Given the description of an element on the screen output the (x, y) to click on. 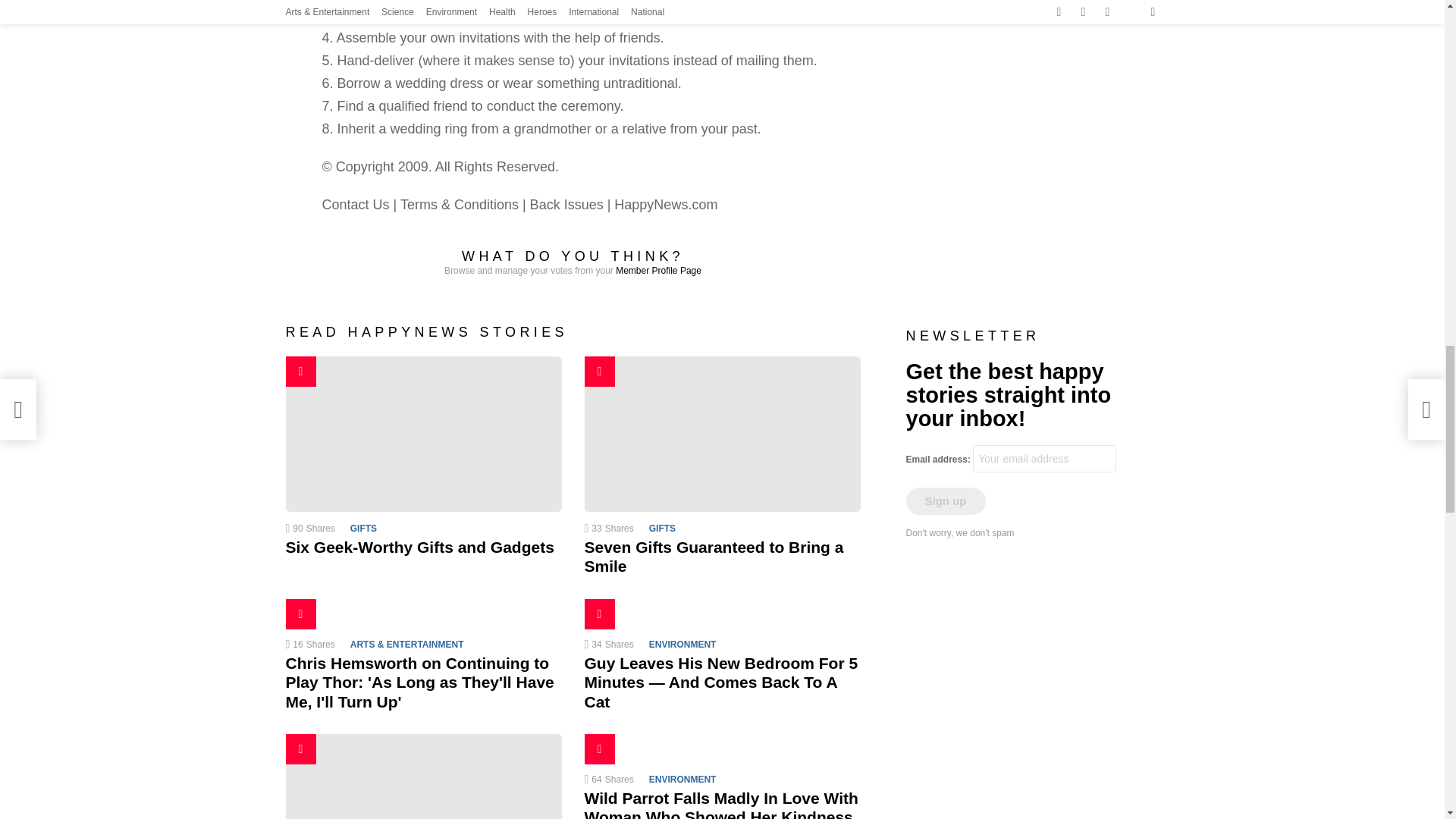
GIFTS (665, 528)
Hot (598, 613)
Hot (300, 613)
Hot (300, 371)
Sign up (945, 501)
Hot (300, 371)
Hot (300, 748)
Member Profile Page (658, 270)
Hot (300, 613)
Hot (598, 613)
